Given the description of an element on the screen output the (x, y) to click on. 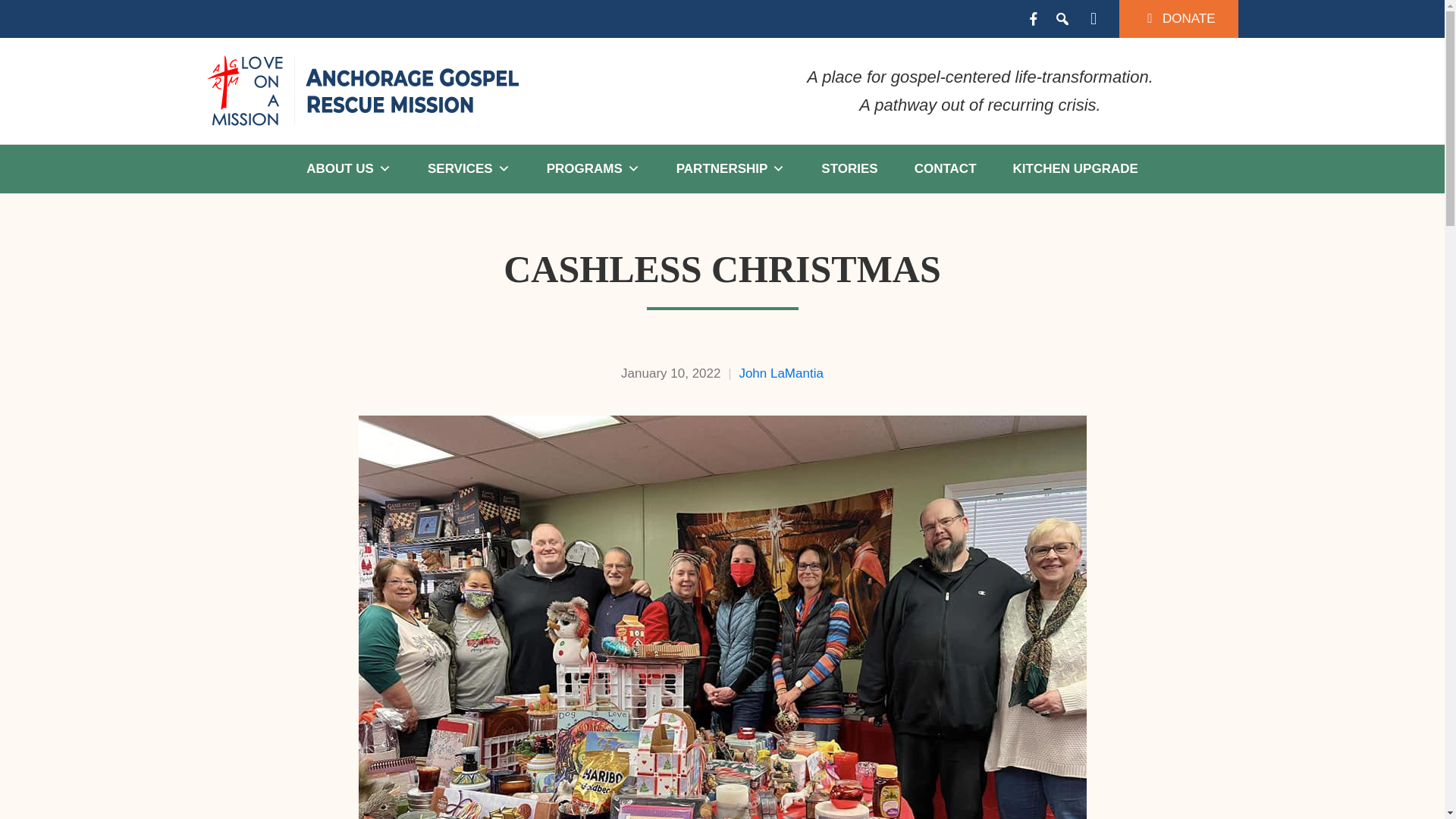
DONATE (1179, 18)
PARTNERSHIP (730, 168)
SERVICES (468, 168)
STORIES (849, 168)
CONTACT (945, 168)
ABOUT US (348, 168)
KITCHEN UPGRADE (1075, 168)
John LaMantia (781, 373)
PROGRAMS (593, 168)
